Given the description of an element on the screen output the (x, y) to click on. 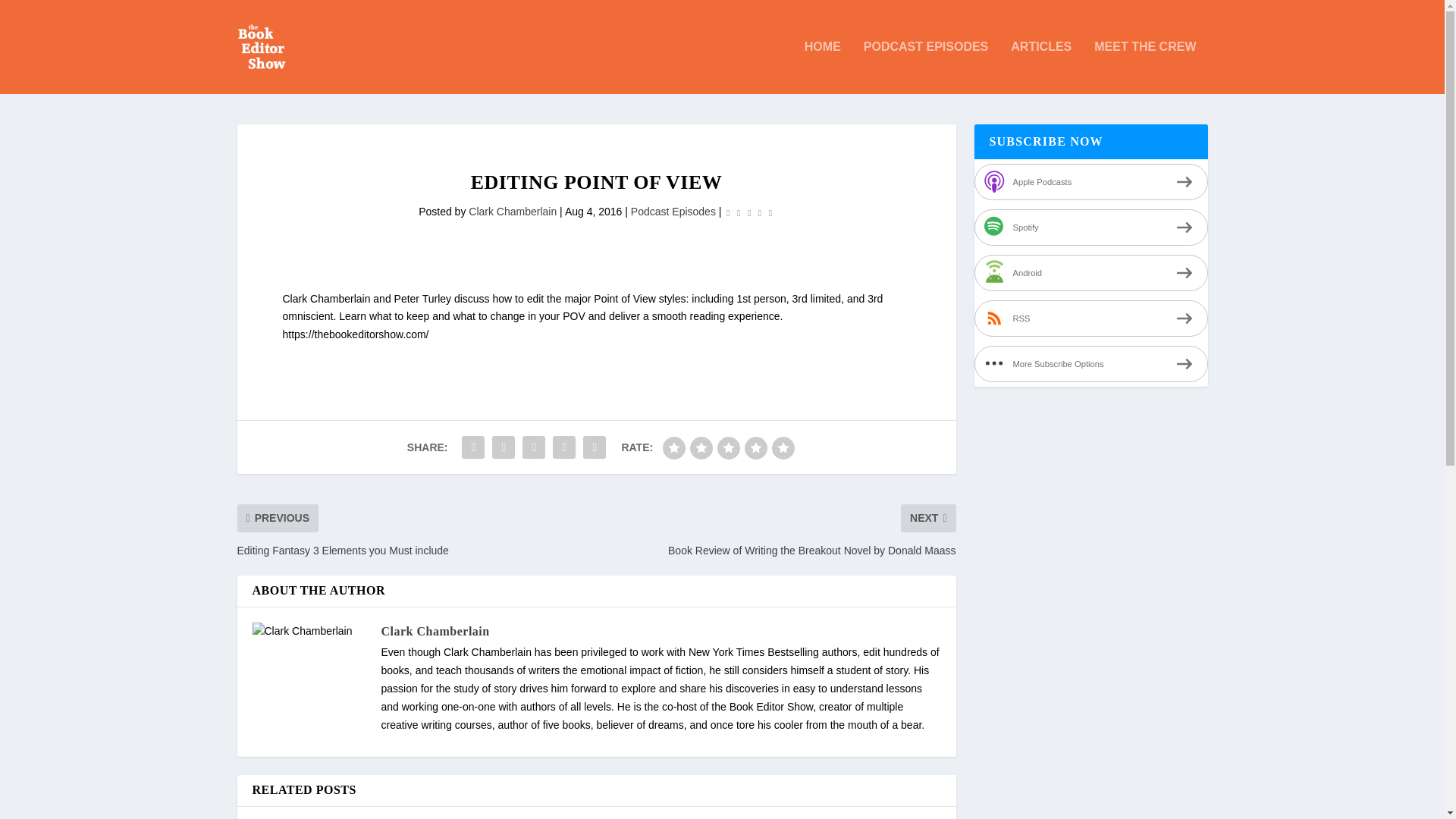
Podcast Episodes (673, 211)
Share "Editing Point of View" via LinkedIn (563, 447)
RSS (1090, 318)
Android (1090, 272)
gorgeous (782, 447)
ARTICLES (1040, 67)
Rating: 0.00 (748, 212)
Clark Chamberlain (512, 211)
Share "Editing Point of View" via Email (594, 447)
Posts by Clark Chamberlain (512, 211)
Spotify (1090, 227)
poor (701, 447)
regular (728, 447)
Apple Podcasts (1090, 181)
Subscribe on Spotify (1090, 227)
